Given the description of an element on the screen output the (x, y) to click on. 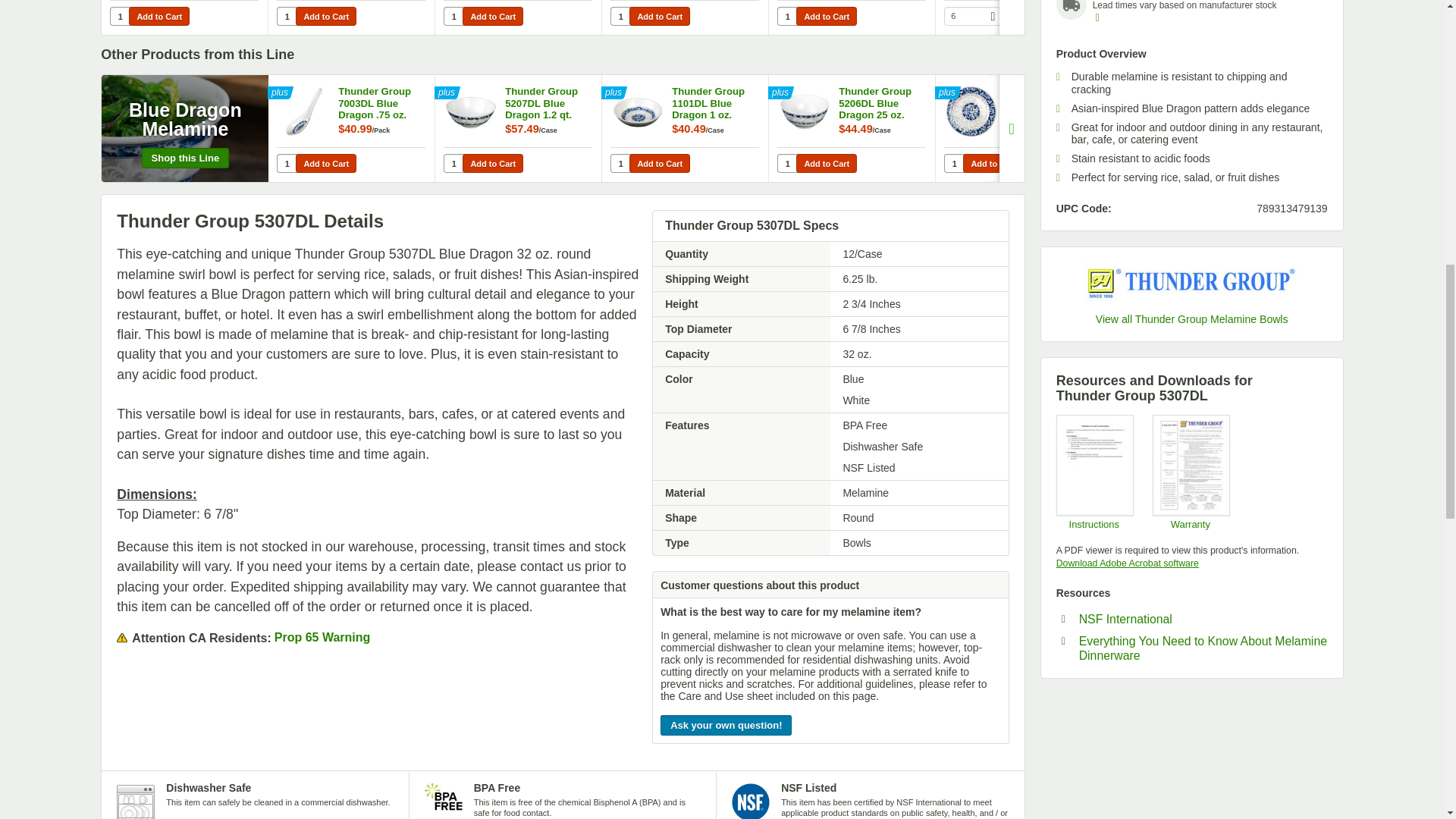
1 (120, 15)
Add to Cart (492, 15)
Add to Cart (1036, 15)
Add to Cart (325, 162)
Add to Cart (325, 15)
1 (620, 15)
Add to Cart (159, 15)
Add to Cart (659, 15)
Thunder Group (1192, 282)
Add to Cart (492, 162)
Add to Cart (826, 15)
View All Products From Thunder Group (1191, 282)
Thunder Group (1192, 318)
1 (287, 162)
1 (787, 15)
